Given the description of an element on the screen output the (x, y) to click on. 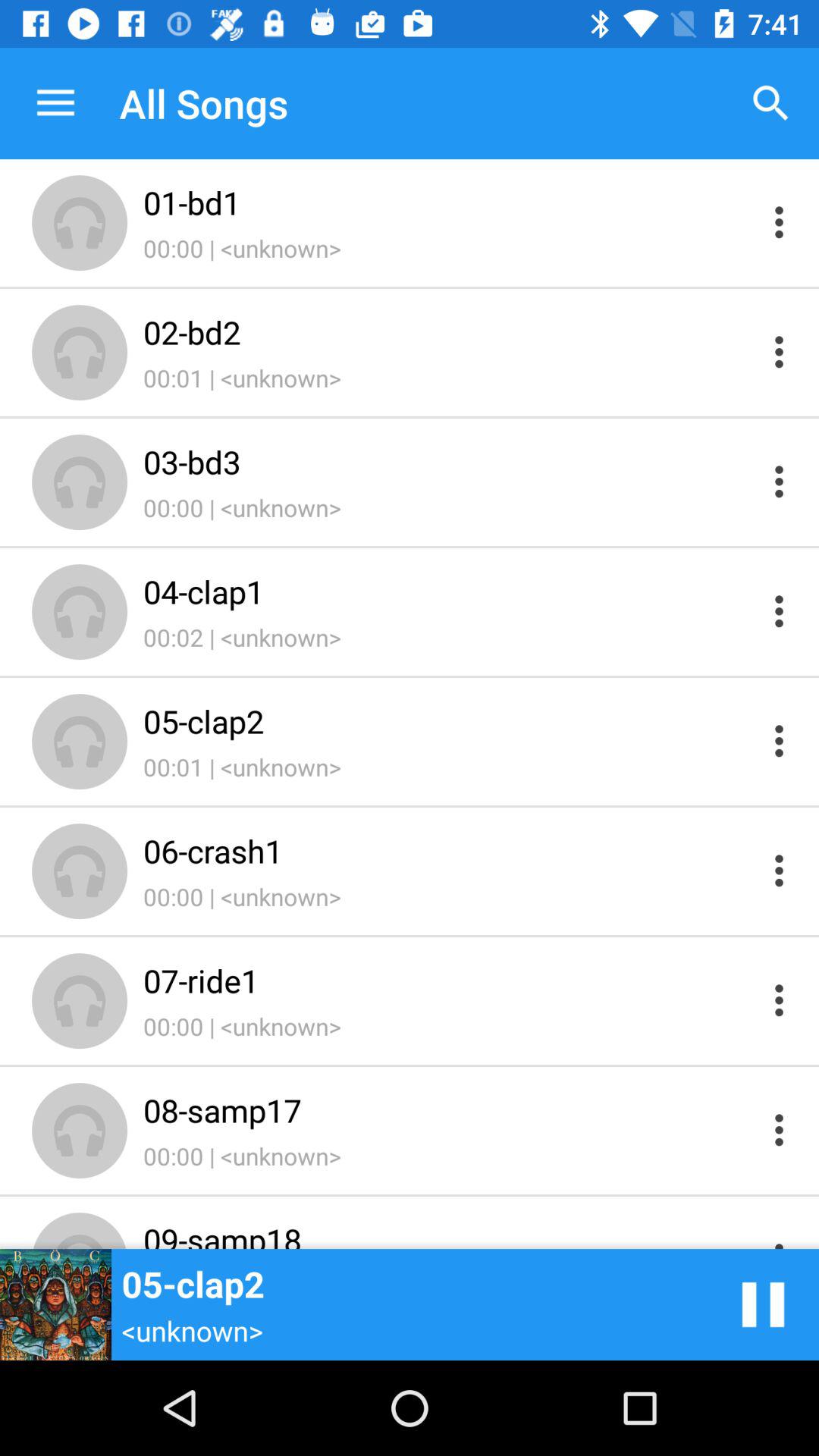
swipe until 08-samp17 icon (449, 1109)
